Given the description of an element on the screen output the (x, y) to click on. 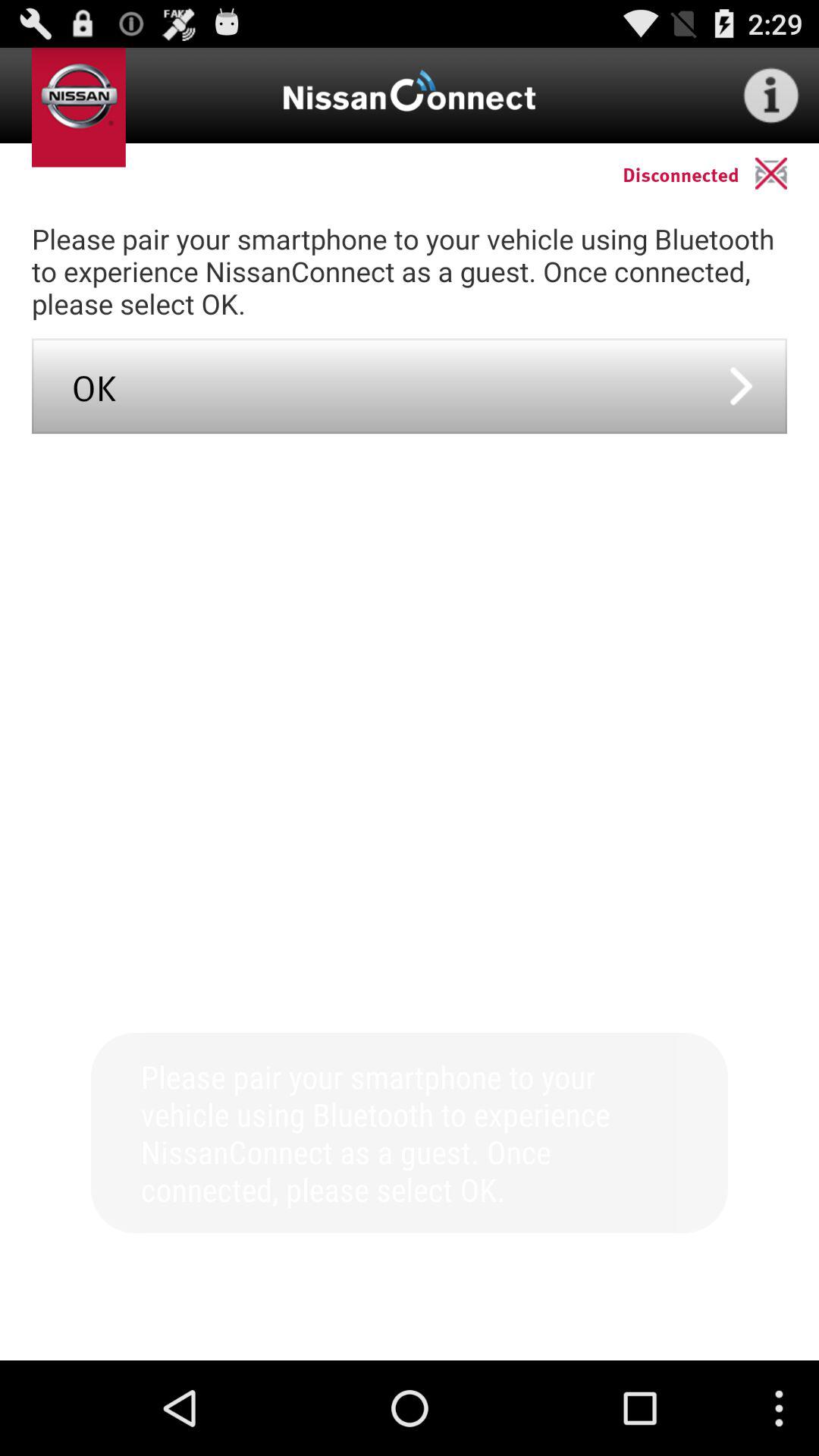
select icon next to disconnected item (787, 173)
